Given the description of an element on the screen output the (x, y) to click on. 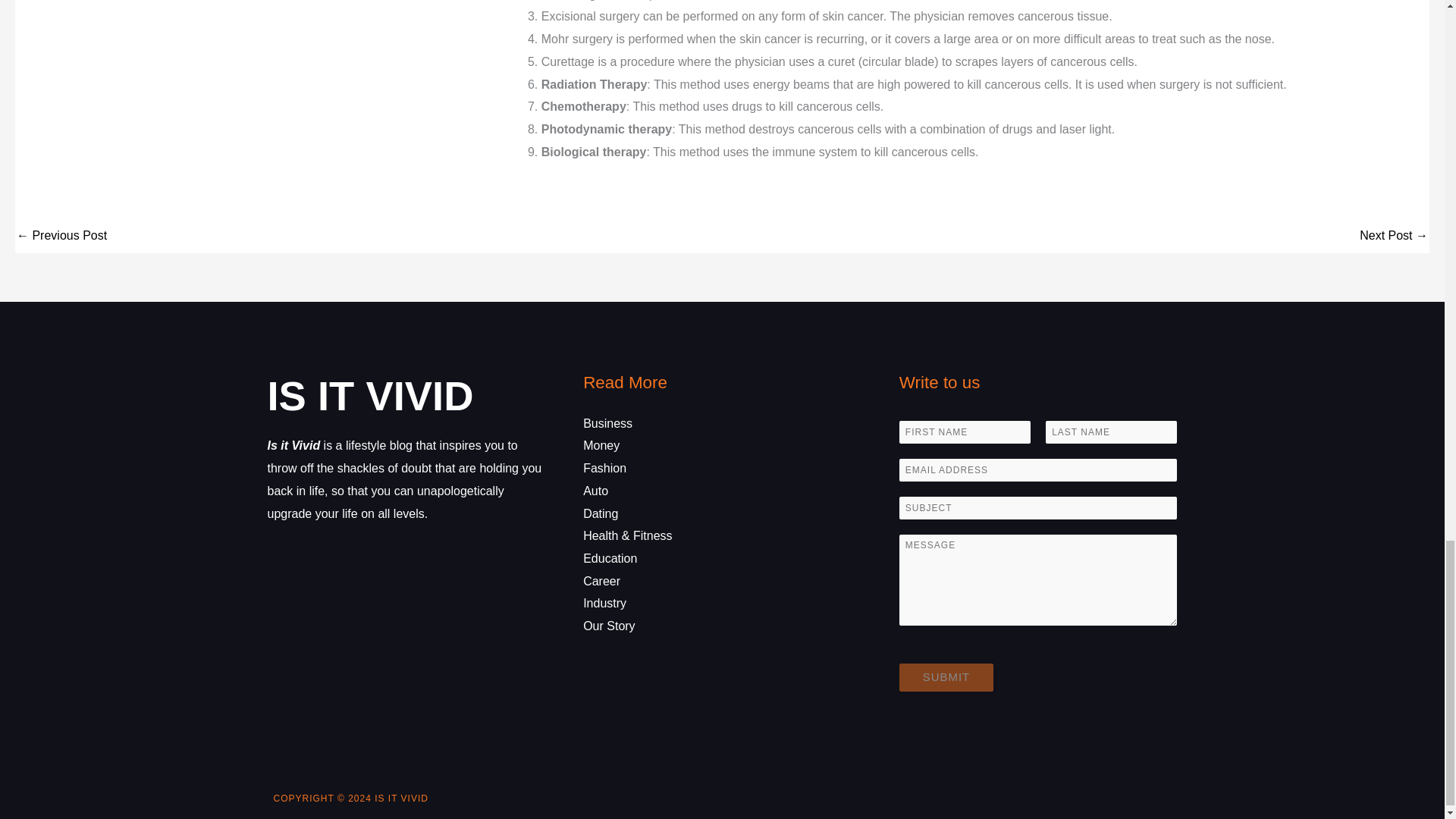
Drug Tests and Employee Productivity (61, 236)
Education (610, 558)
Money (601, 445)
Our Story (608, 625)
Auto (595, 490)
Business (607, 422)
Industry (604, 603)
Fashion (604, 468)
How To Find Companies For Selling Your House (1393, 236)
Career (601, 581)
